Given the description of an element on the screen output the (x, y) to click on. 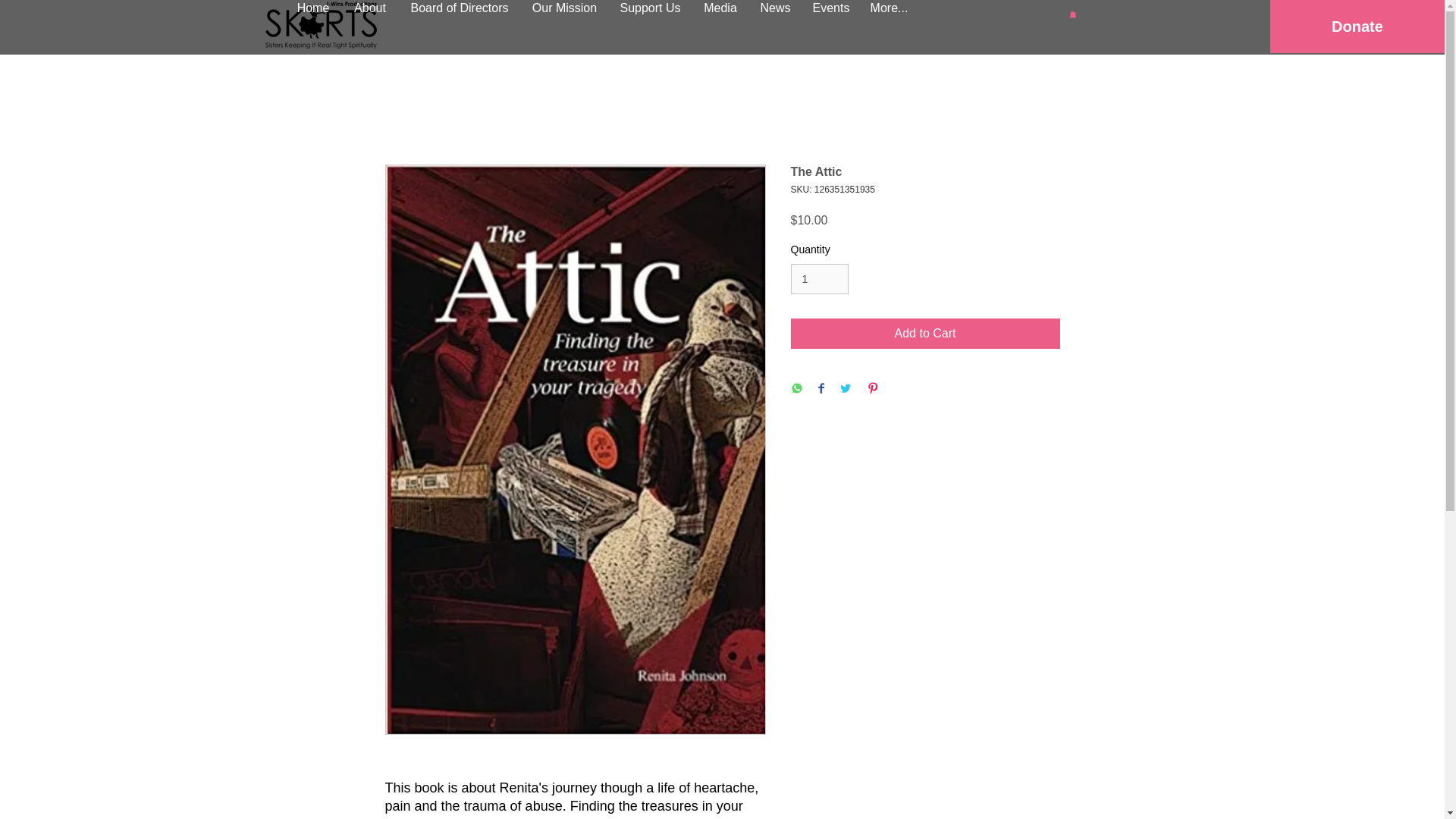
1 (818, 278)
Support Us (649, 5)
News (775, 5)
Media (719, 5)
Events (829, 5)
Home (313, 5)
Our Mission (563, 5)
Board of Directors (459, 5)
Add to Cart (924, 333)
About (368, 5)
